Given the description of an element on the screen output the (x, y) to click on. 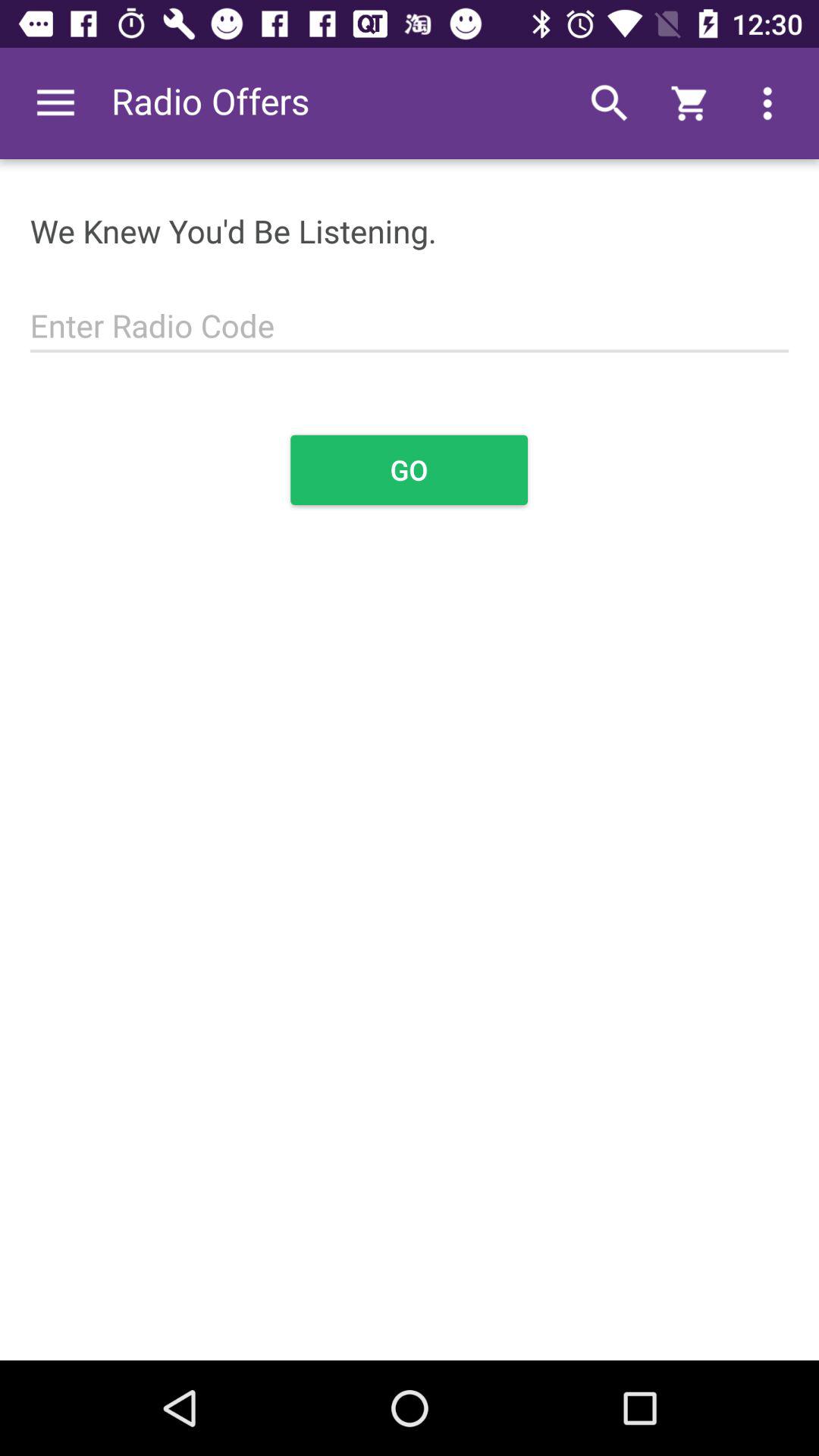
tap go (408, 470)
